Given the description of an element on the screen output the (x, y) to click on. 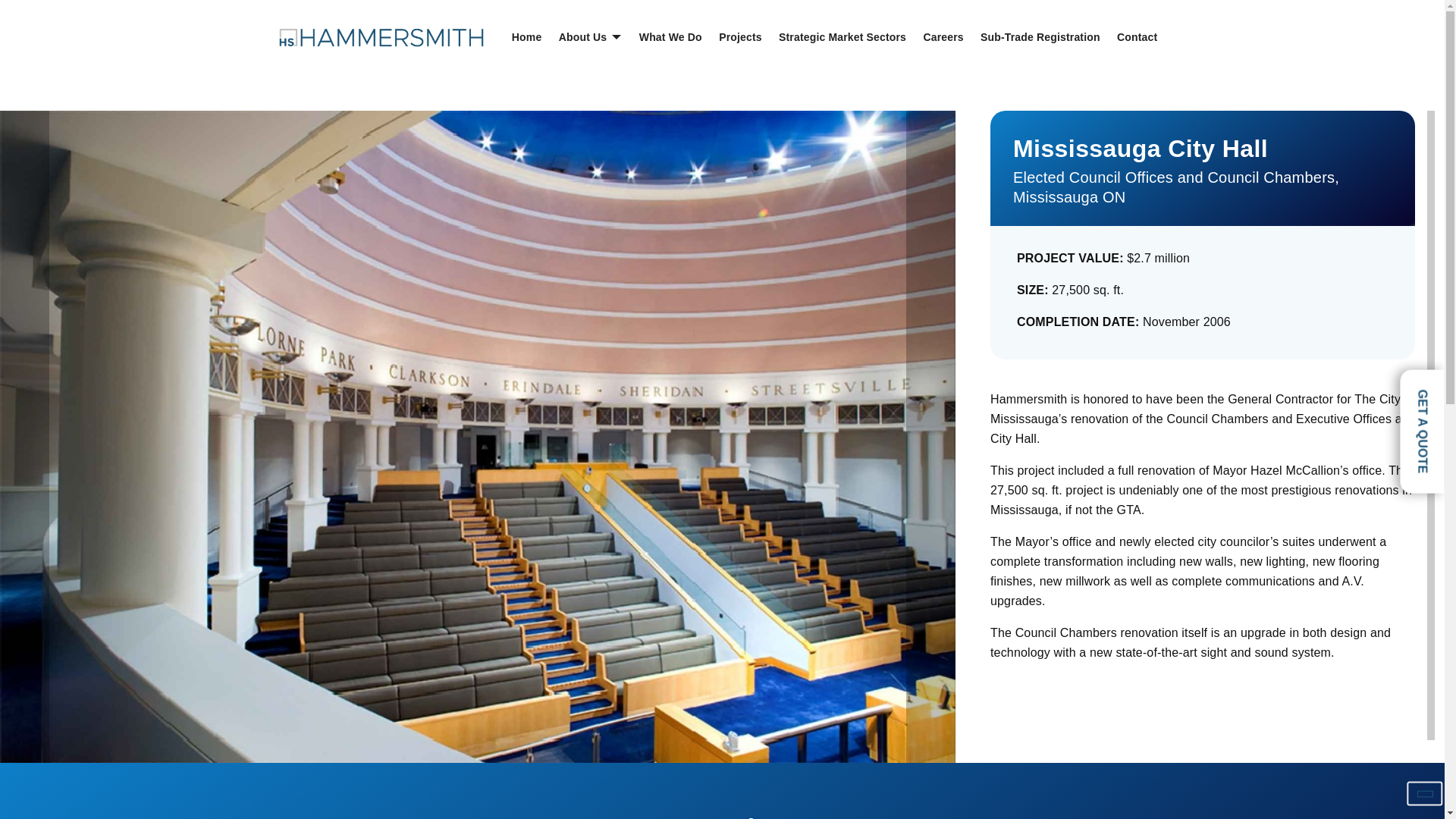
About Us (590, 36)
Sub-Trade Registration (1039, 36)
Projects (740, 36)
Strategic Market Sectors (842, 36)
What We Do (670, 36)
Contact (1136, 36)
Home (528, 36)
Careers (943, 36)
